Given the description of an element on the screen output the (x, y) to click on. 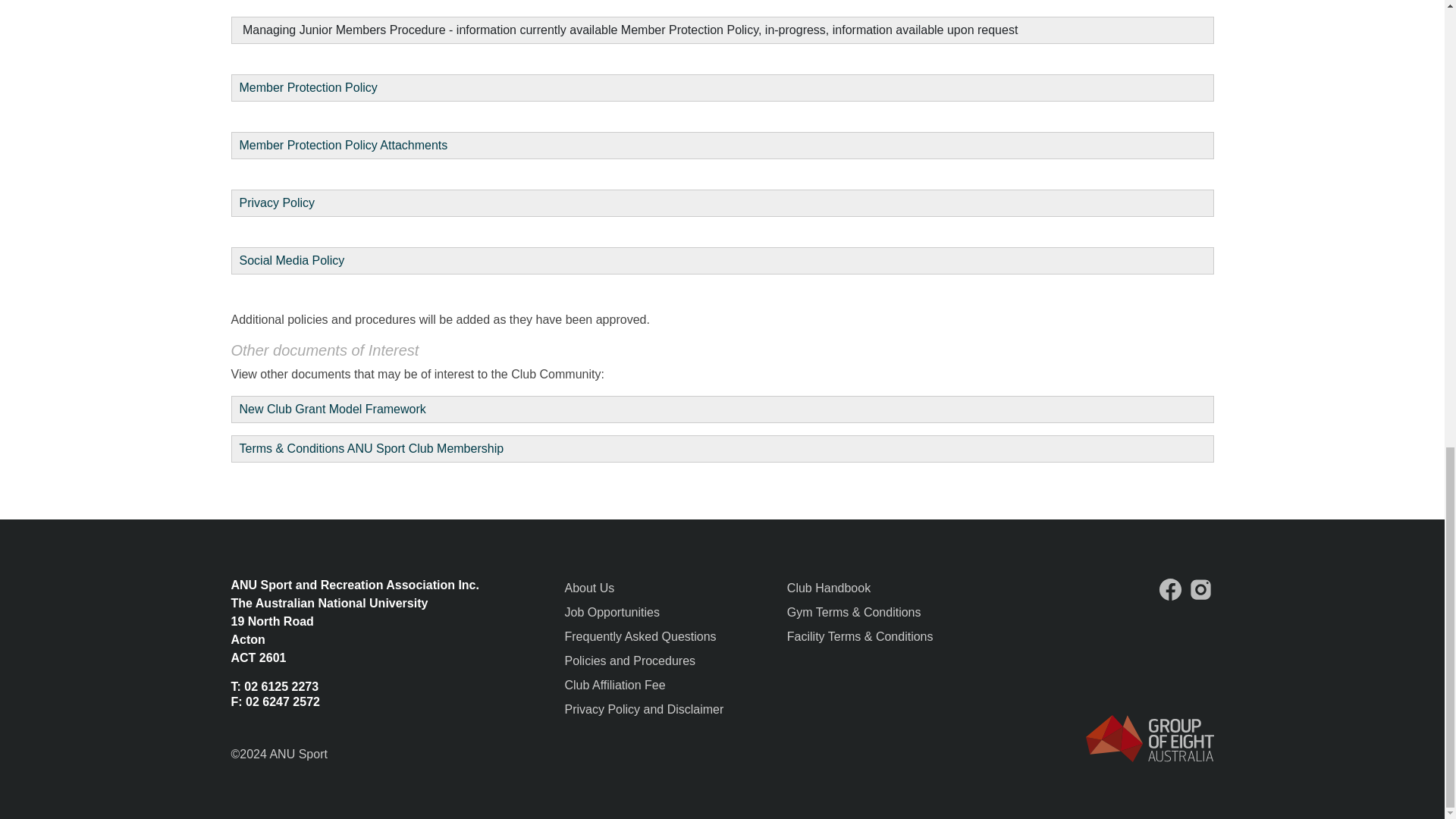
Privacy Policy (277, 202)
Member Protection Policy Attachments  (345, 144)
Frequently Asked Questions (640, 635)
Club Handbook (828, 587)
Member Protection Policy (308, 87)
New Club Grant Model Framework (333, 408)
About Us (589, 587)
Club Affiliation Fee (614, 684)
Learn more about the Group of Eight (1150, 737)
02 6125 2273 (281, 686)
